Given the description of an element on the screen output the (x, y) to click on. 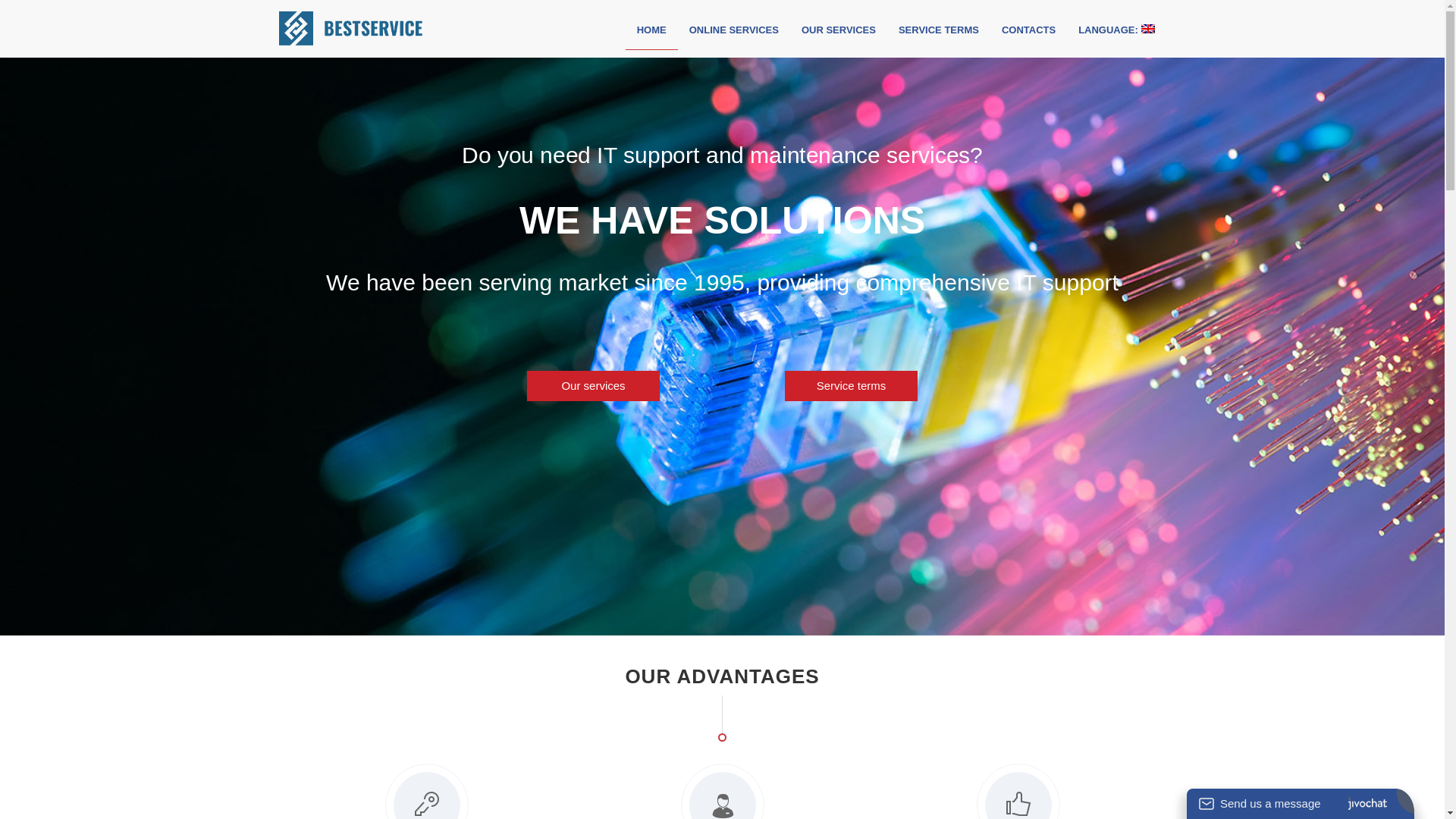
HOME Element type: text (651, 30)
SERVICE TERMS Element type: text (938, 30)
LANGUAGE:  Element type: text (1115, 30)
Best Service Element type: hover (378, 30)
OUR SERVICES Element type: text (838, 30)
Our services Element type: text (593, 385)
Service terms Element type: text (850, 385)
CONTACTS Element type: text (1028, 30)
ONLINE SERVICES Element type: text (733, 30)
